Given the description of an element on the screen output the (x, y) to click on. 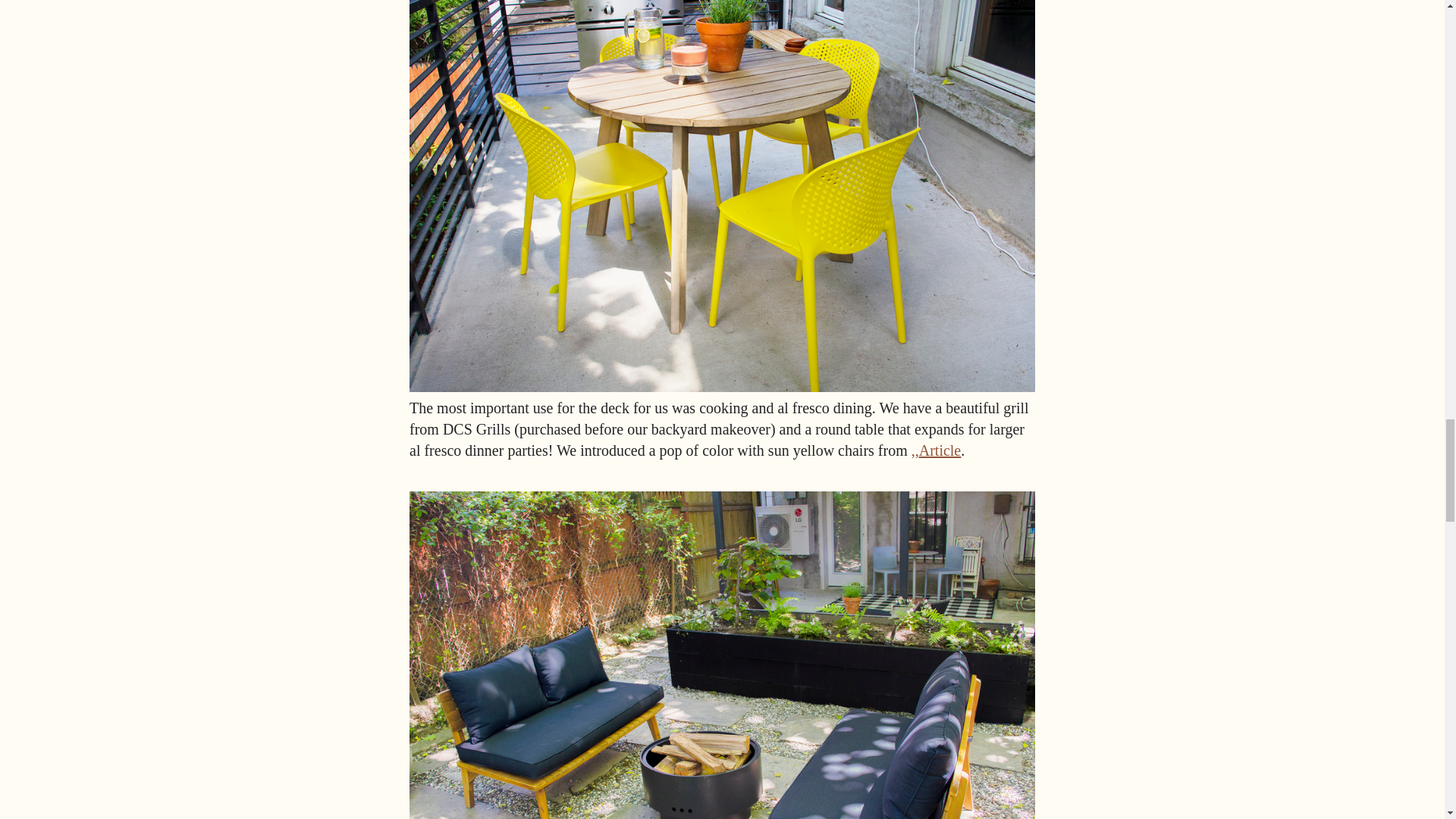
,,Article (935, 450)
